Given the description of an element on the screen output the (x, y) to click on. 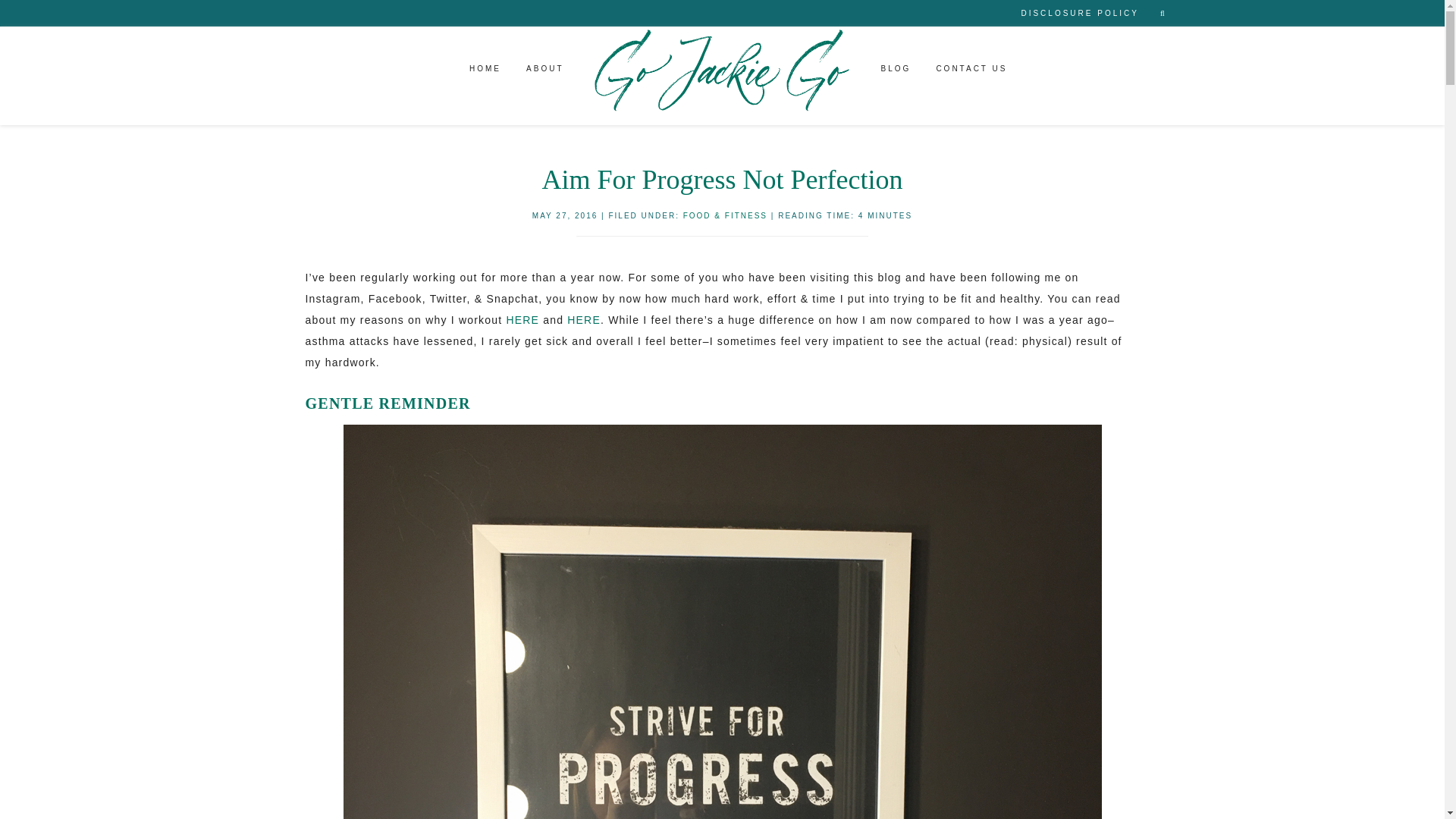
HOME (485, 71)
HERE (583, 319)
HERE (521, 319)
CONTACT US (970, 71)
GO JACKIE GO (722, 71)
ABOUT (544, 71)
DISCLOSURE POLICY (1079, 13)
BLOG (895, 71)
